Given the description of an element on the screen output the (x, y) to click on. 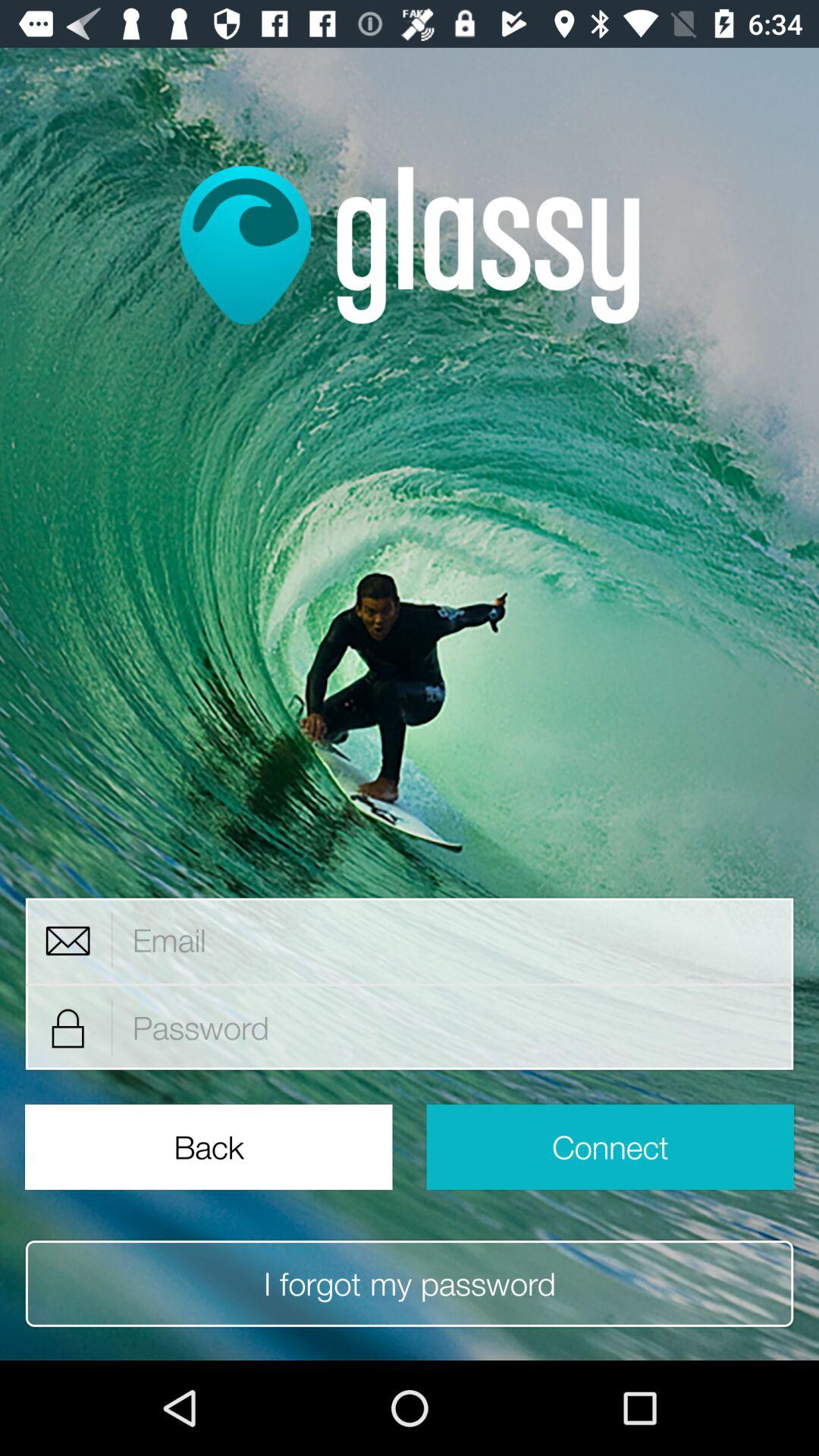
tap the icon above i forgot my icon (609, 1146)
